Given the description of an element on the screen output the (x, y) to click on. 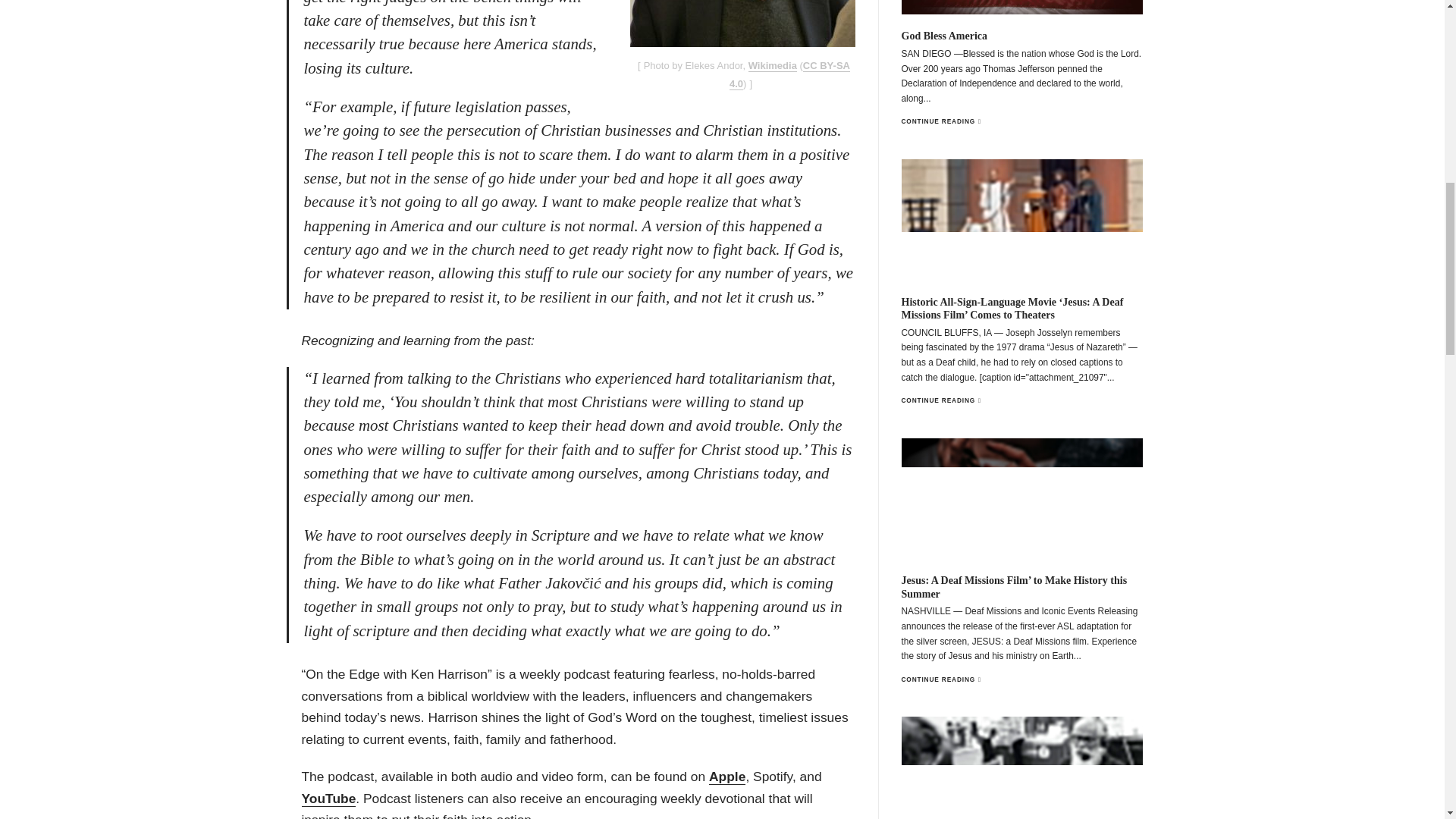
Wikimedia (772, 65)
CC BY-SA 4.0 (789, 74)
Apple (727, 776)
YouTube (328, 798)
